Given the description of an element on the screen output the (x, y) to click on. 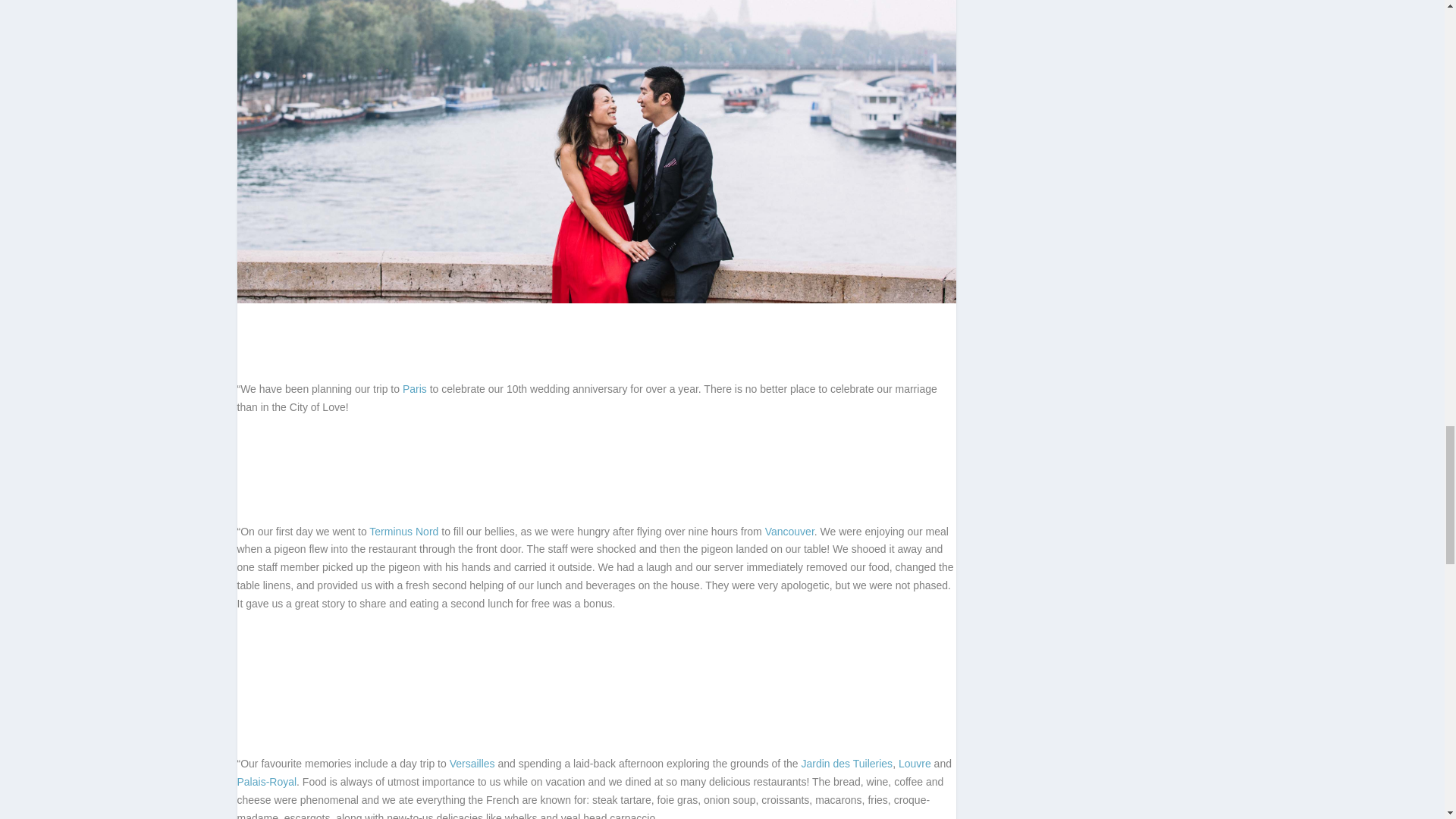
Vancouver (789, 531)
Paris (414, 388)
Versailles (472, 763)
Jardin des Tuileries (846, 763)
Louvre (914, 763)
Terminus Nord (403, 531)
Palais-Royal (266, 781)
